Given the description of an element on the screen output the (x, y) to click on. 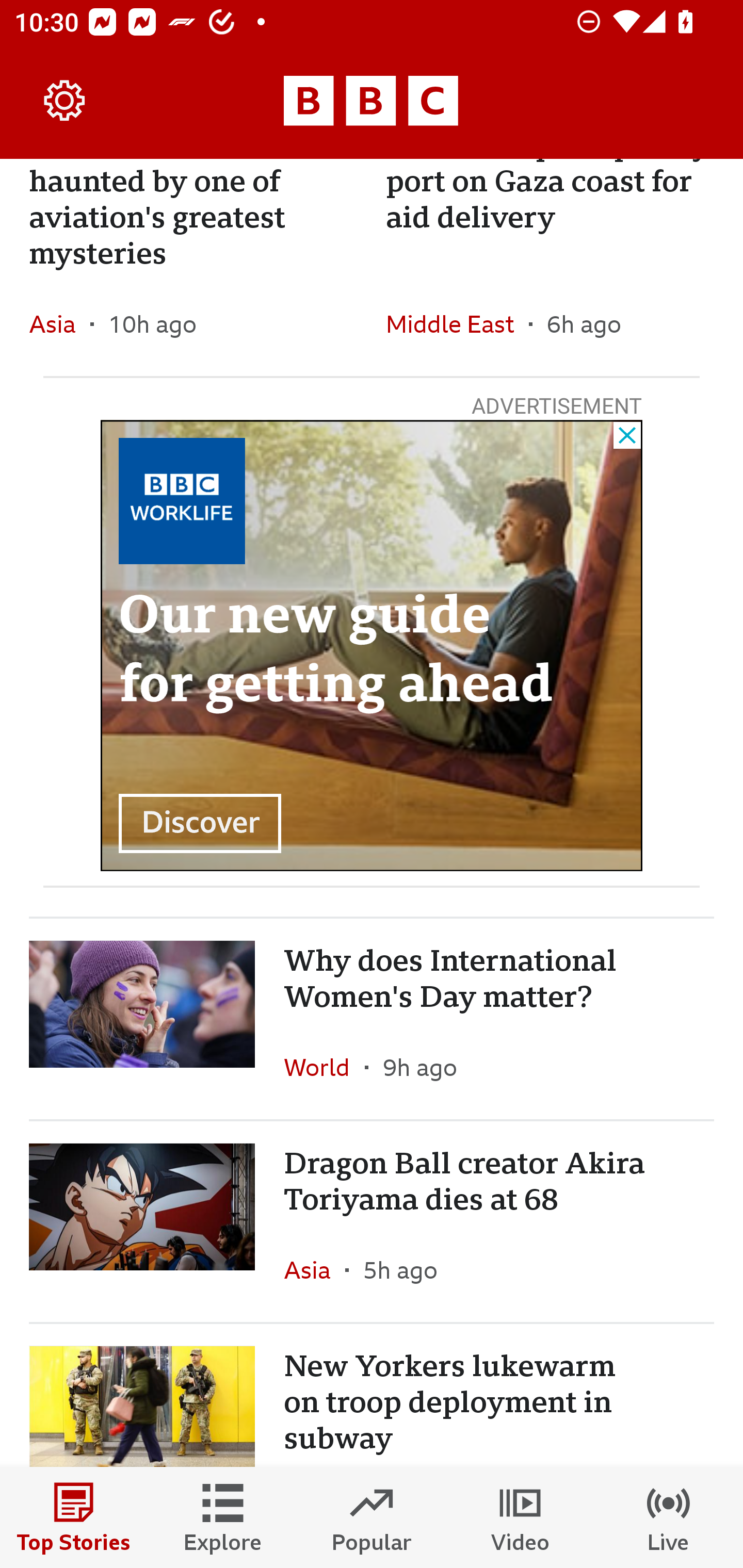
Settings (64, 100)
Asia In the section Asia (59, 323)
Middle East In the section Middle East (457, 323)
World In the section World (323, 1066)
Asia In the section Asia (314, 1269)
Explore (222, 1517)
Popular (371, 1517)
Video (519, 1517)
Live (668, 1517)
